Given the description of an element on the screen output the (x, y) to click on. 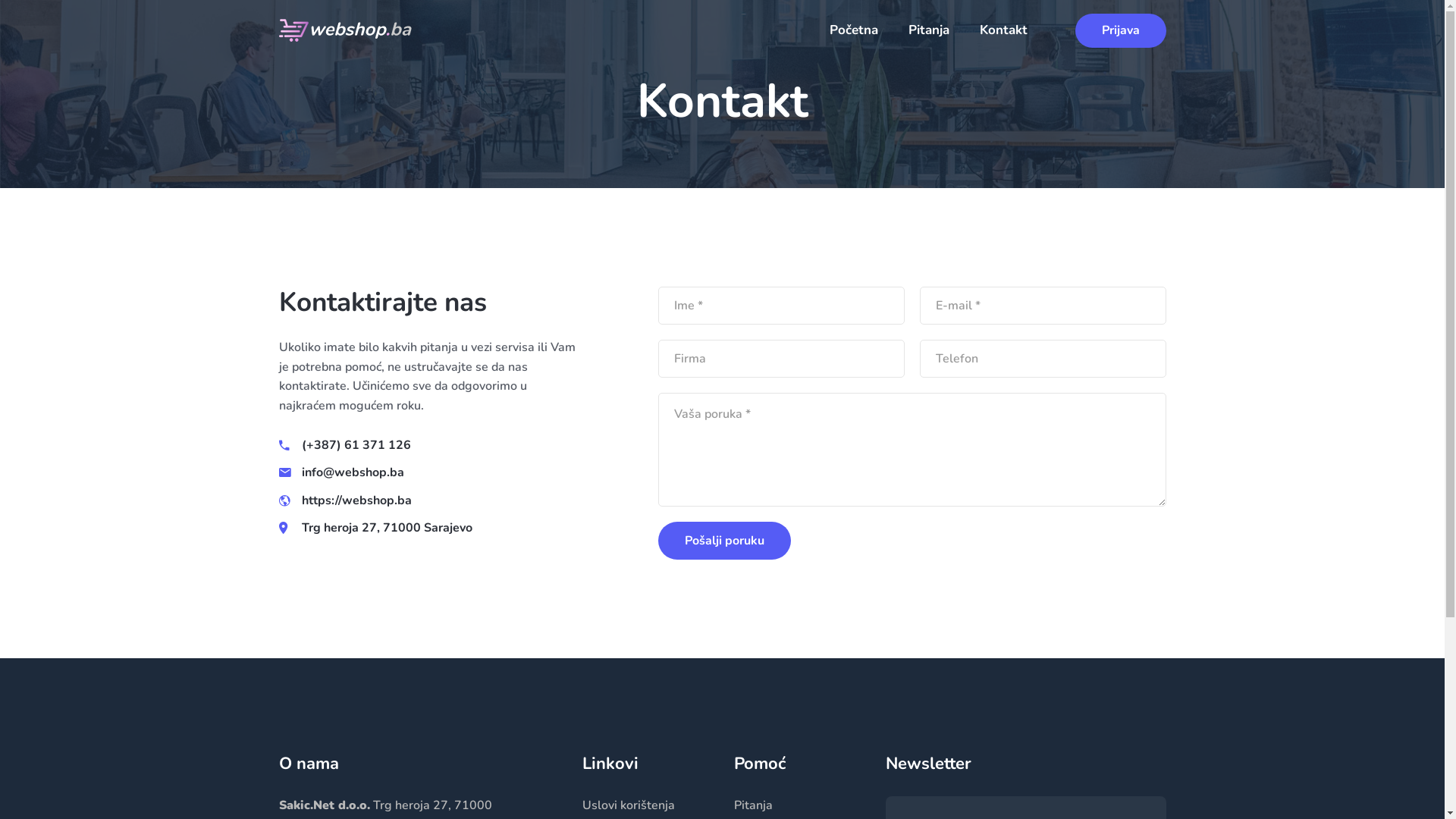
Prijava Element type: text (1120, 30)
Pitanja Element type: text (753, 805)
(+387) 61 371 126 Element type: text (356, 444)
https://webshop.ba Element type: text (356, 500)
info@webshop.ba Element type: text (352, 472)
Pitanja Element type: text (928, 37)
Kontakt Element type: text (1003, 37)
